Given the description of an element on the screen output the (x, y) to click on. 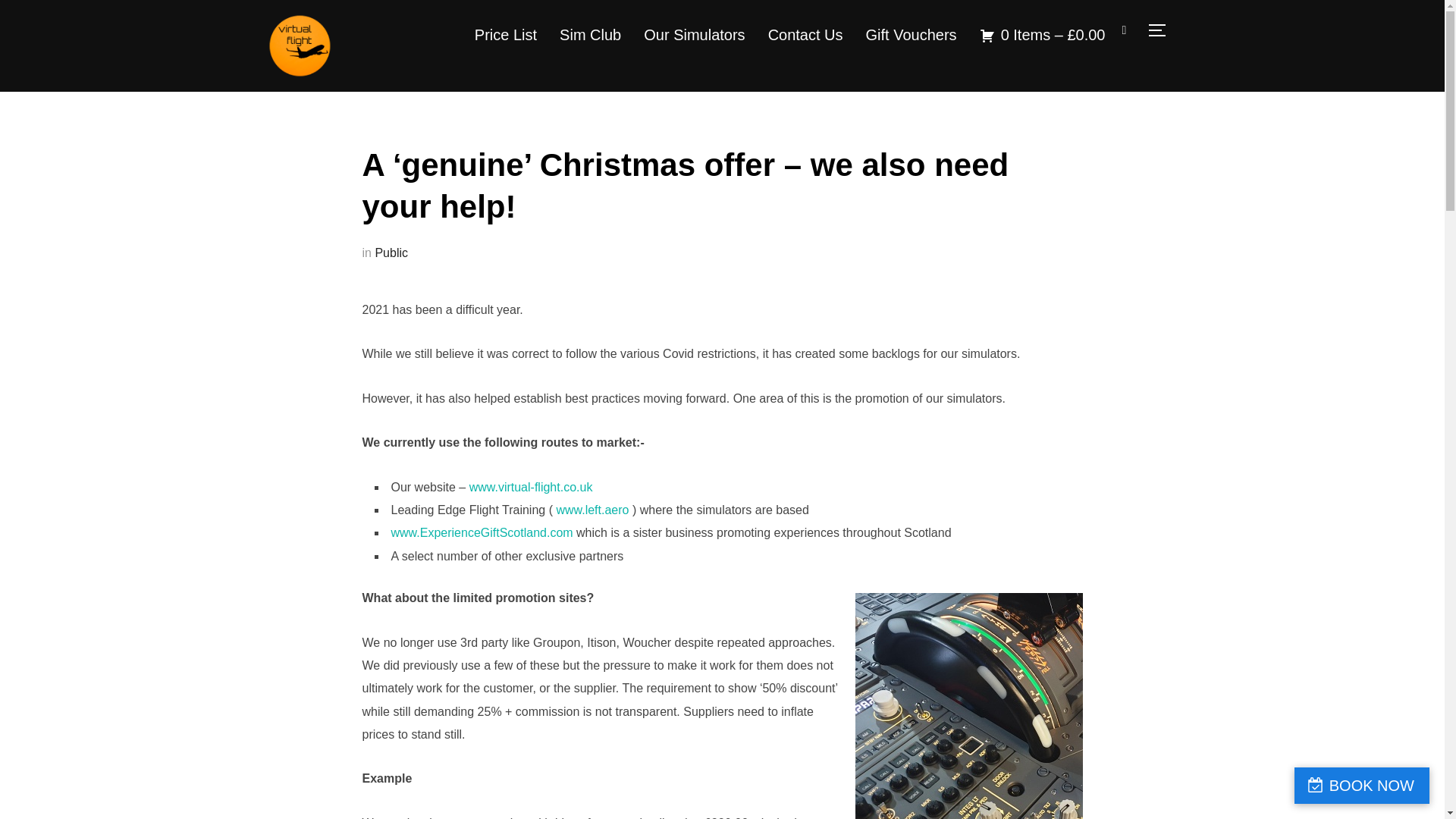
www.virtual-flight.co.uk (530, 486)
Our Simulators (693, 34)
Public (390, 252)
Price List (505, 34)
www.left.aero (592, 509)
Sim Club (590, 34)
Contact Us (805, 34)
View your shopping cart (1042, 34)
Gift Vouchers (911, 34)
www.ExperienceGiftScotland.com (482, 532)
